Given the description of an element on the screen output the (x, y) to click on. 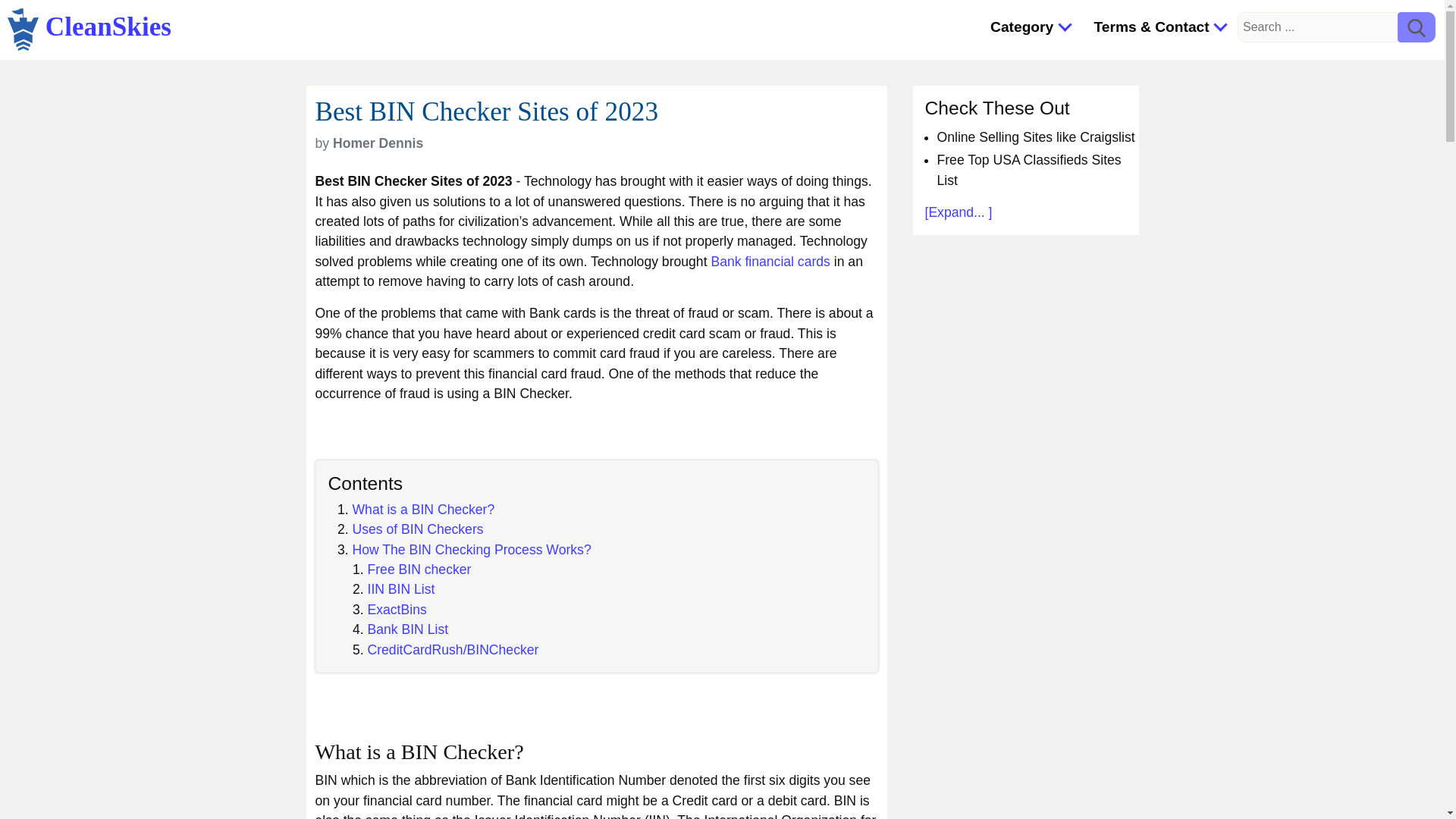
Free BIN checker (418, 569)
Bank financial cards (769, 261)
Online Selling Sites like Craigslist (1036, 136)
Free Top USA Classifieds Sites List (1029, 169)
Bank BIN List (407, 629)
Advertisement (1024, 763)
How The BIN Checking Process Works? (471, 549)
ExactBins (396, 609)
What is a BIN Checker? (423, 509)
IIN BIN List (399, 589)
